Given the description of an element on the screen output the (x, y) to click on. 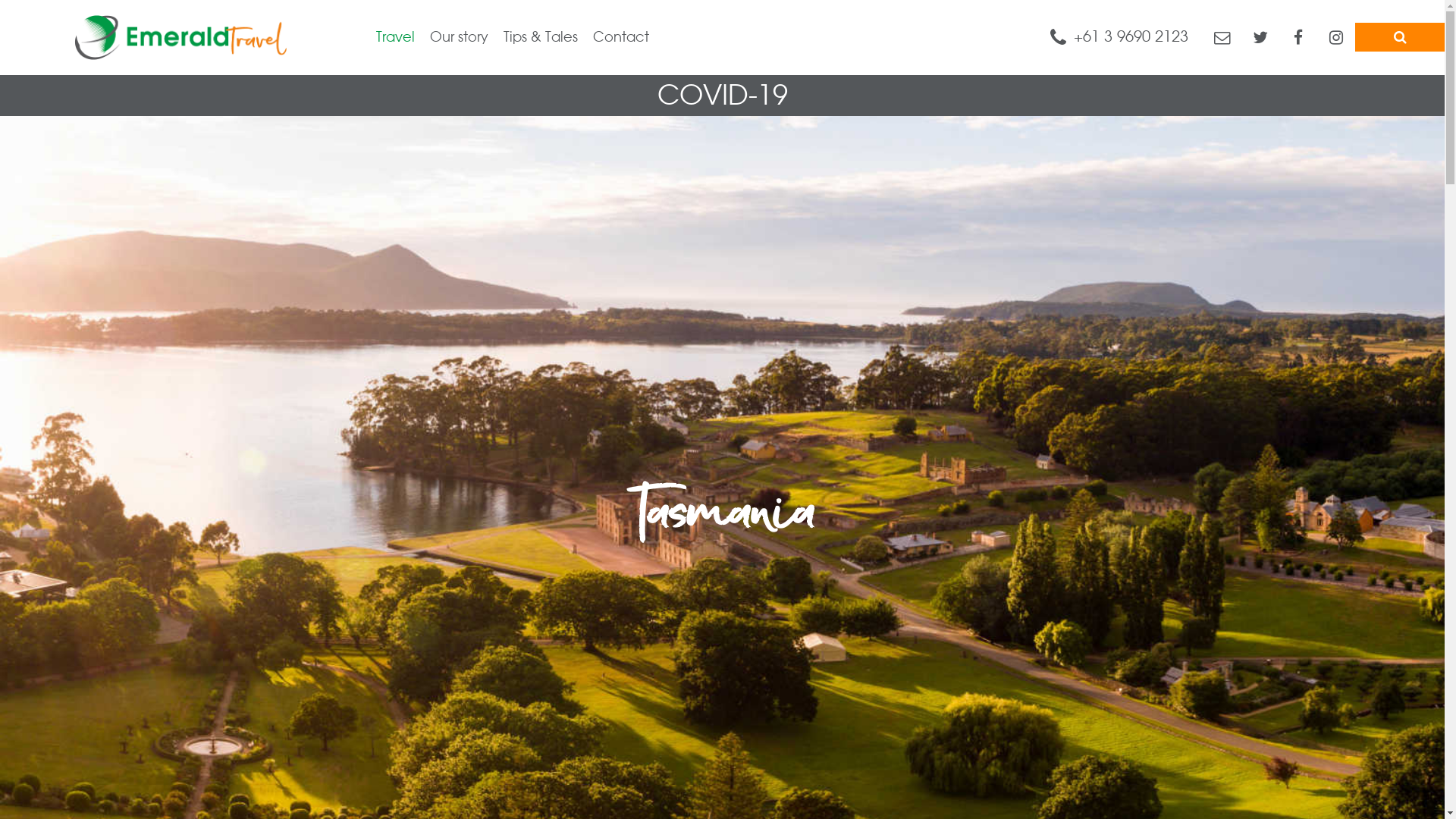
Our story Element type: text (451, 37)
Tips & Tales Element type: text (532, 37)
Contact Element type: text (613, 37)
Travel Element type: text (387, 37)
COVID-19 Element type: text (721, 94)
+61 3 9690 2123 Element type: text (1119, 36)
